Given the description of an element on the screen output the (x, y) to click on. 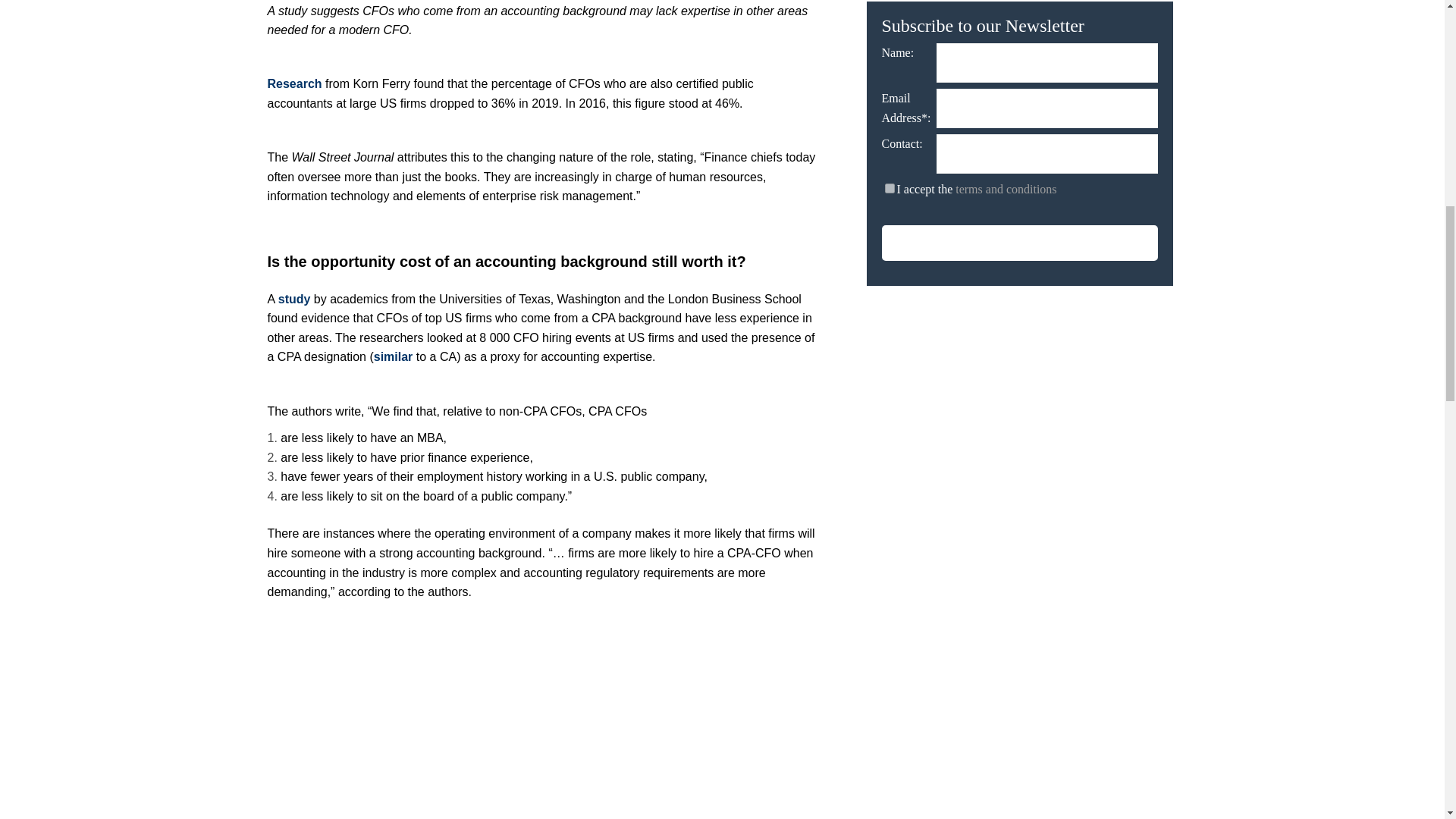
Research (295, 83)
Subscribe (1018, 243)
on (888, 188)
